Given the description of an element on the screen output the (x, y) to click on. 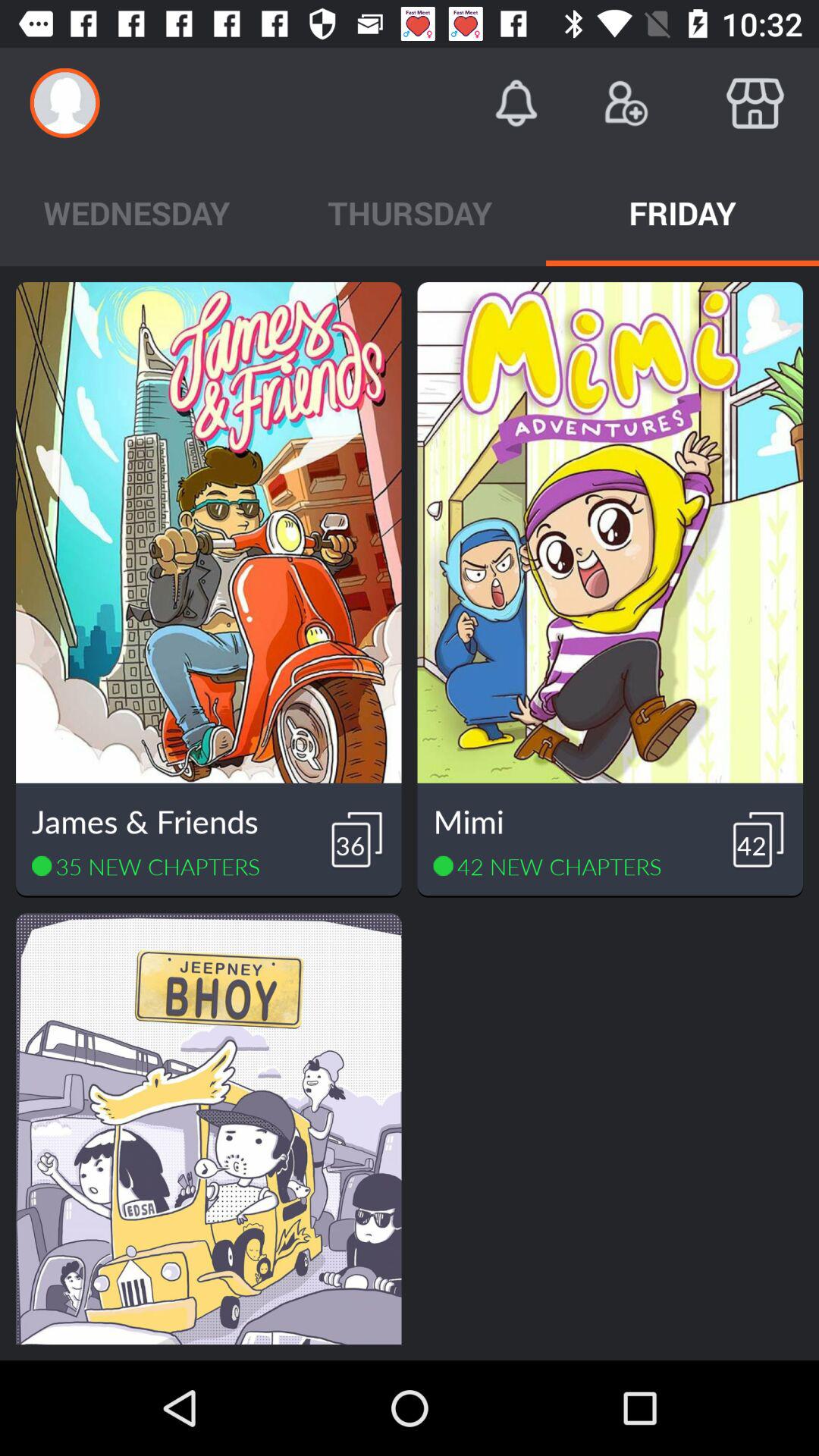
choose thursday (409, 212)
